Given the description of an element on the screen output the (x, y) to click on. 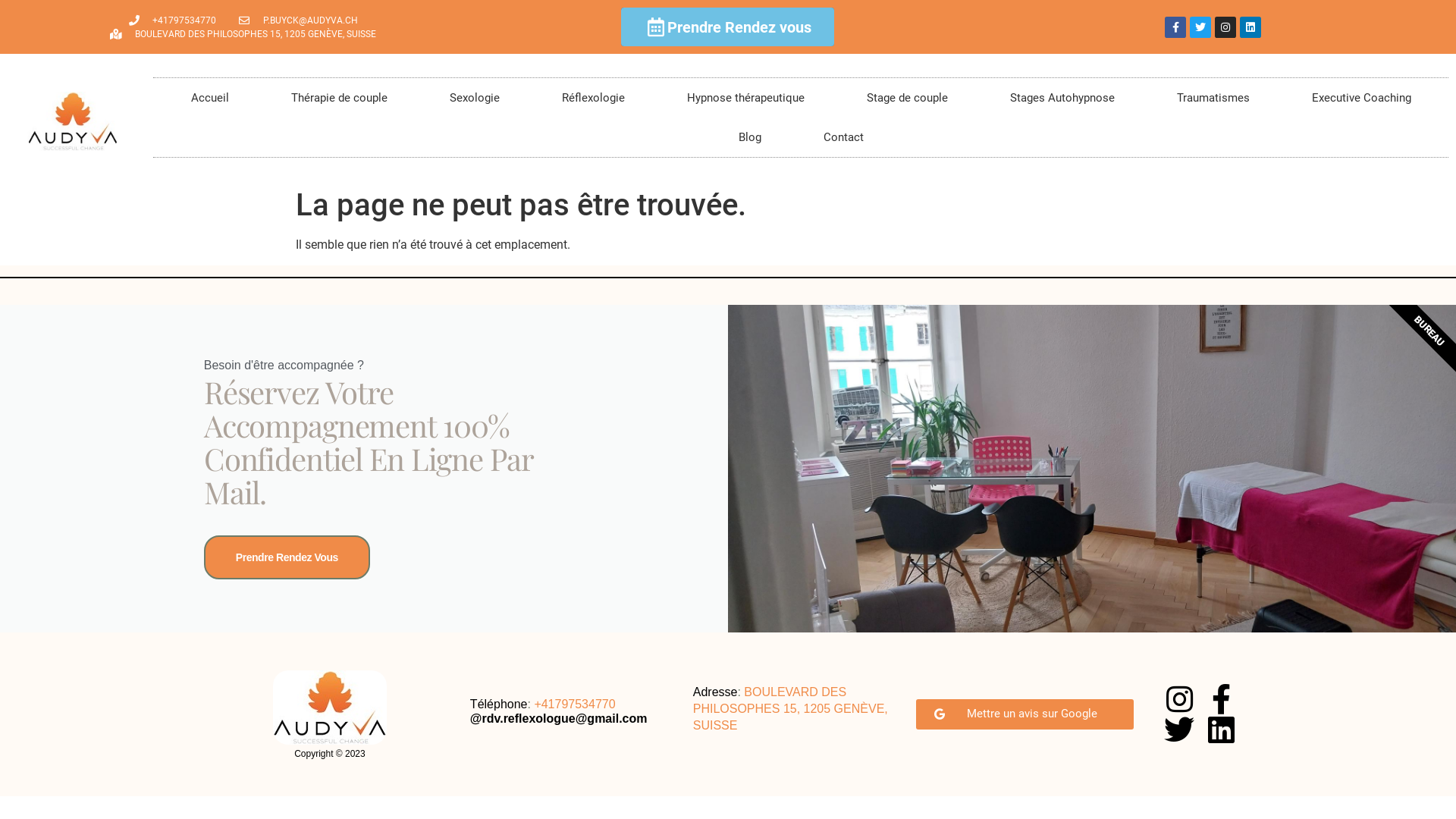
Stages Autohypnose Element type: text (1061, 97)
Executive Coaching Element type: text (1360, 97)
Prendre Rendez Vous Element type: text (286, 557)
+41797534770 Element type: text (574, 703)
Stage de couple Element type: text (907, 97)
Traumatismes Element type: text (1212, 97)
Contact Element type: text (842, 136)
P.BUYCK@AUDYVA.CH Element type: text (297, 20)
Prendre Rendez vous Element type: text (727, 26)
Sexologie Element type: text (474, 97)
Mettre un avis sur Google Element type: text (1025, 714)
+41797534770 Element type: text (171, 20)
Blog Element type: text (748, 136)
Accueil Element type: text (209, 97)
